Given the description of an element on the screen output the (x, y) to click on. 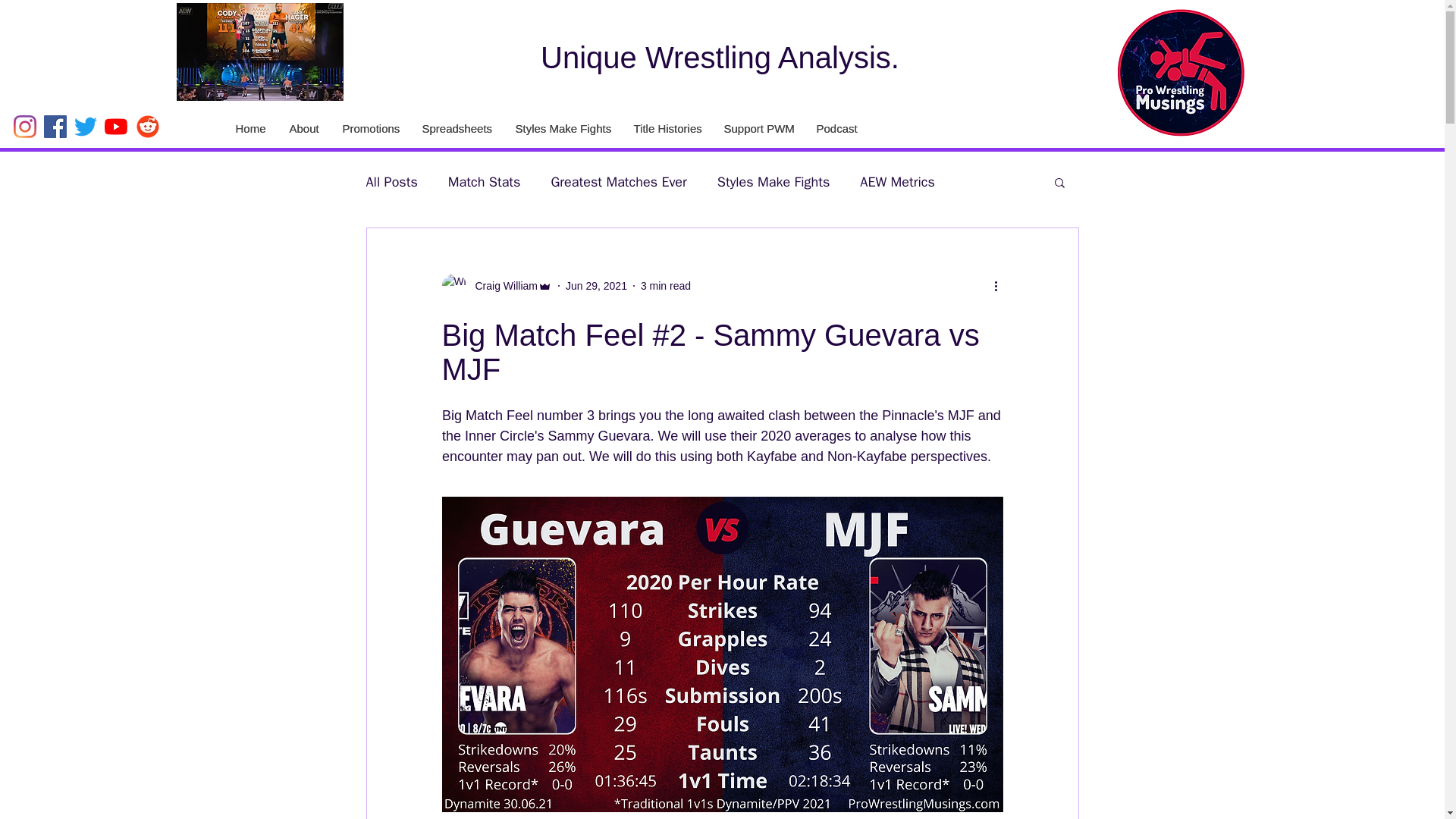
Podcast (835, 128)
Match Stats (484, 181)
Styles Make Fights (773, 181)
Support PWM (757, 128)
Title Histories (666, 128)
Spreadsheets (455, 128)
Jun 29, 2021 (596, 285)
Home (249, 128)
Greatest Matches Ever (617, 181)
All Posts (390, 181)
